Given the description of an element on the screen output the (x, y) to click on. 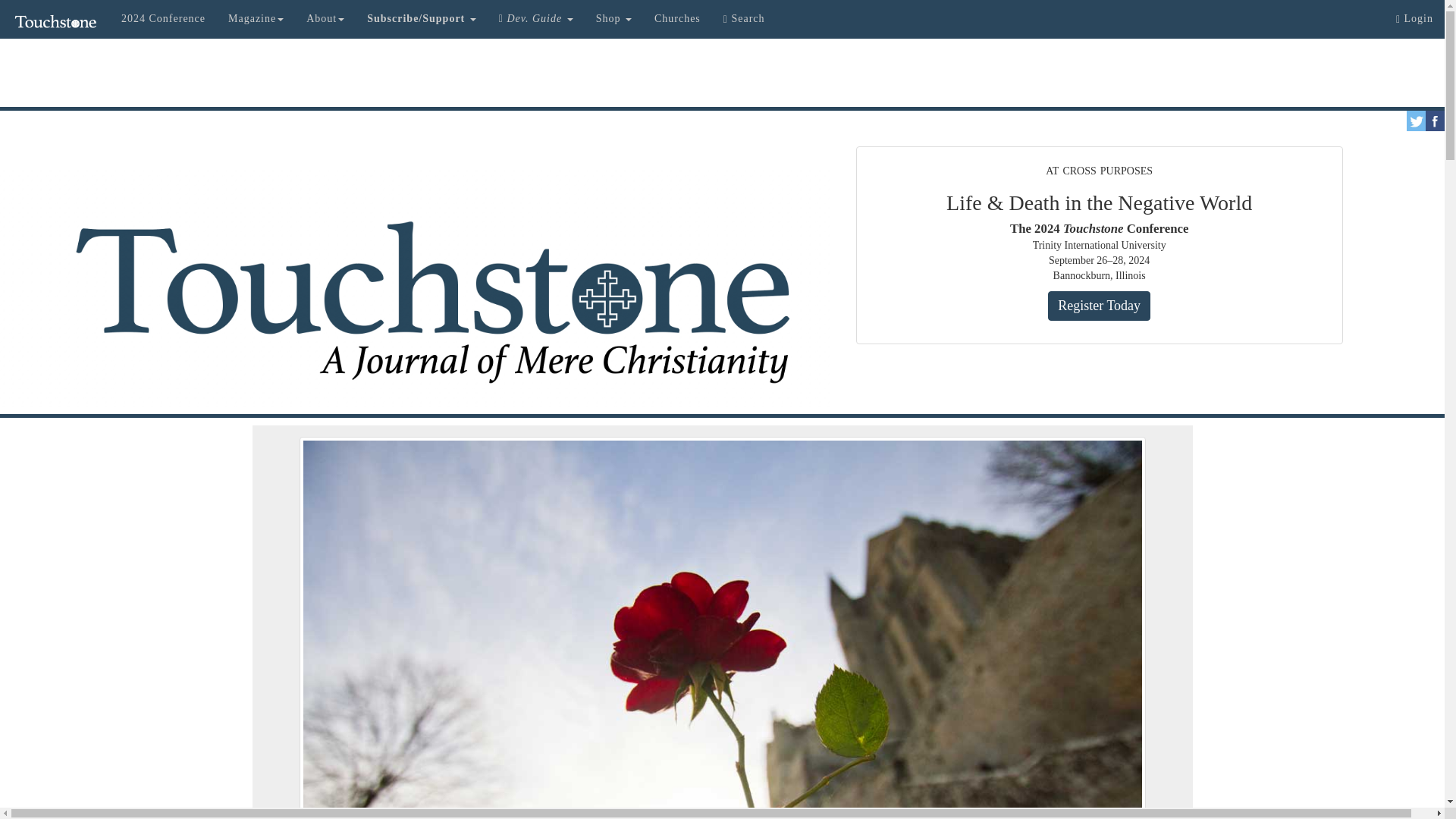
About (325, 18)
Login (1414, 18)
Churches (677, 18)
Shop (614, 18)
Dev. Guide (536, 18)
3rd party ad content (721, 72)
Magazine (255, 18)
Register Today (1099, 306)
Search (743, 18)
2024 Conference (163, 18)
